Given the description of an element on the screen output the (x, y) to click on. 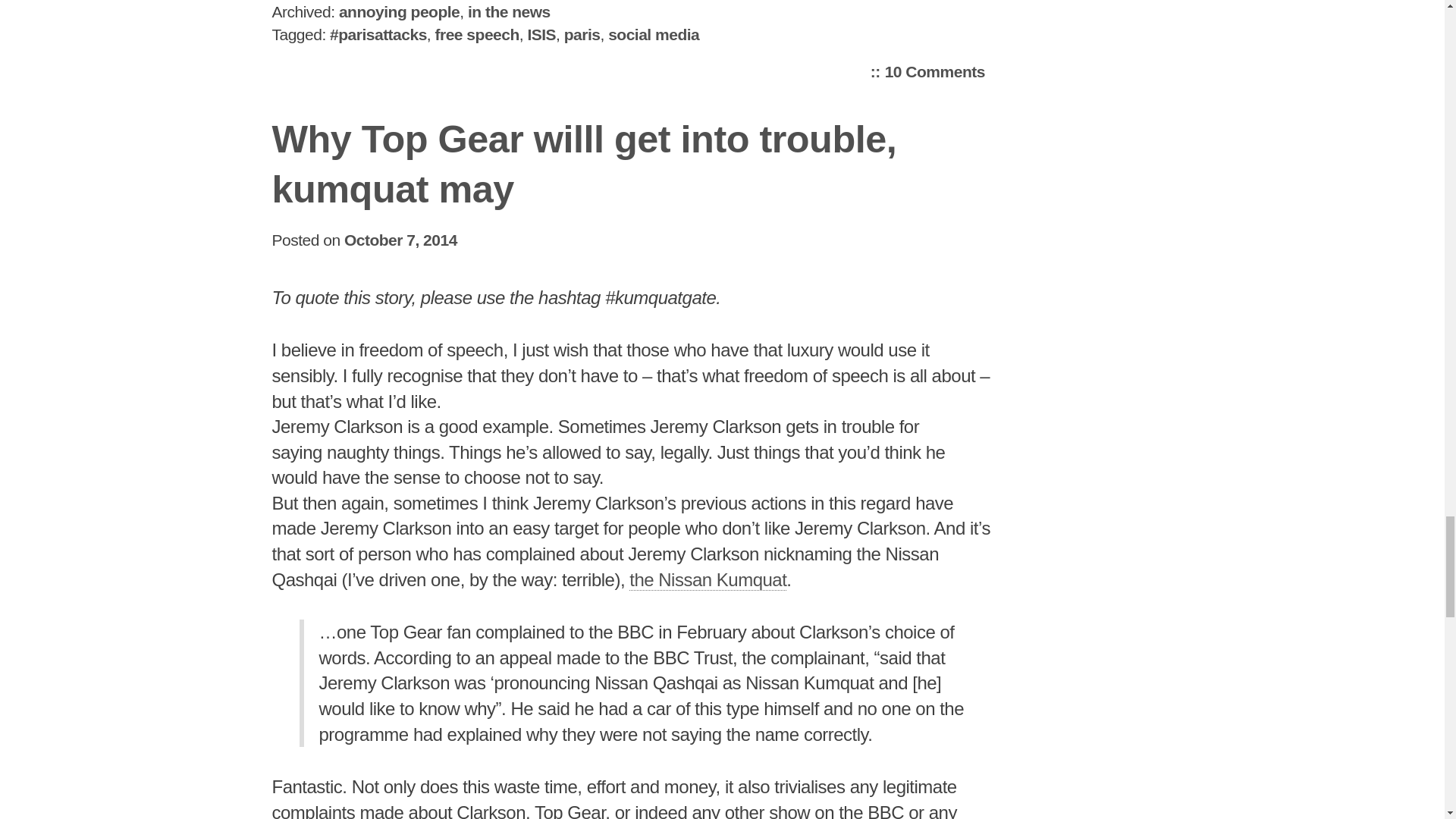
Link (707, 579)
free speech (477, 34)
paris (581, 34)
ISIS (541, 34)
social media (653, 34)
October 7, 2014 (400, 239)
Why Top Gear willl get into trouble, kumquat may (583, 163)
the Nissan Kumquat (927, 71)
in the news (707, 579)
annoying people (508, 11)
